Given the description of an element on the screen output the (x, y) to click on. 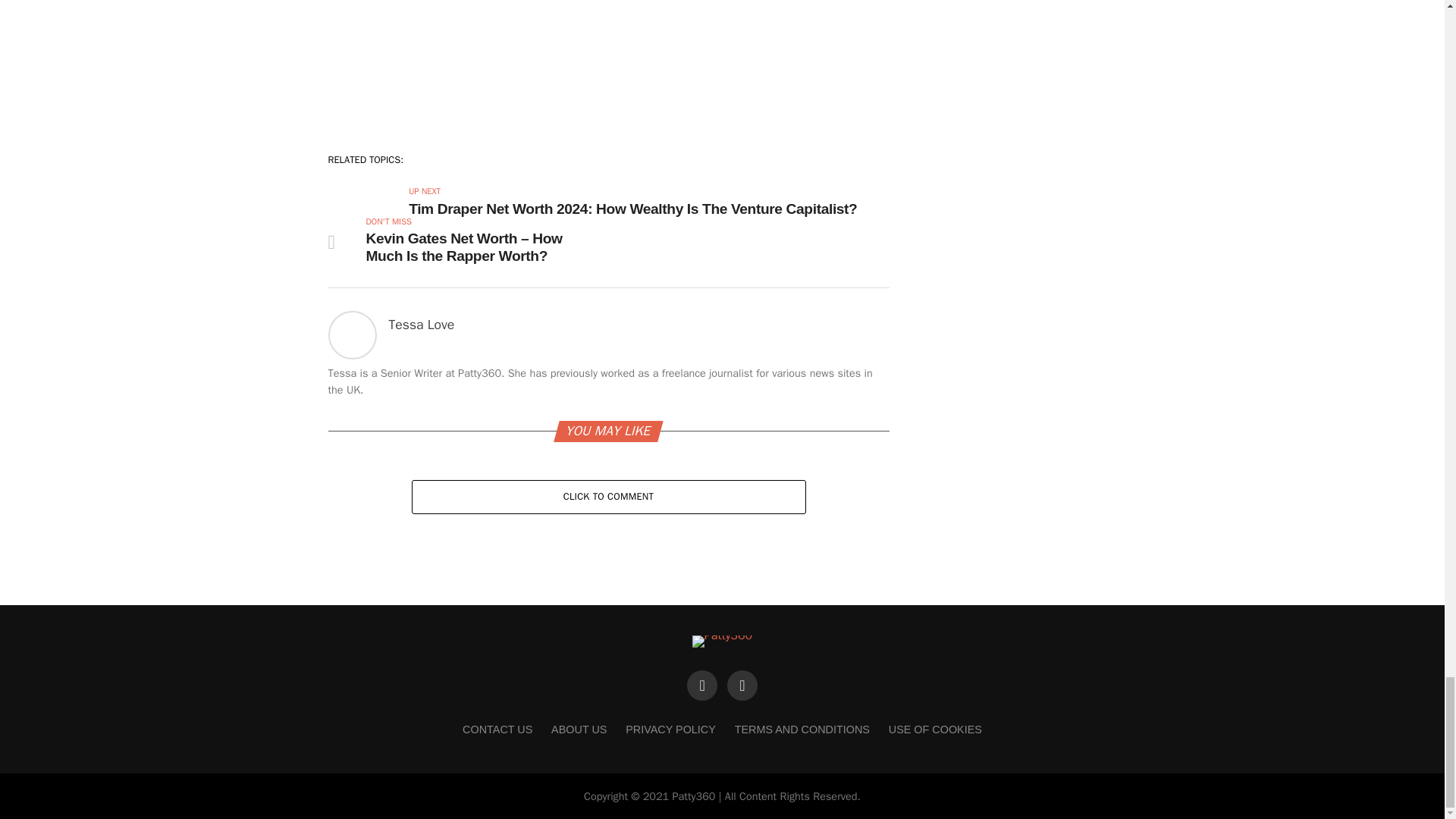
CONTACT US (497, 729)
Tessa Love (421, 324)
PRIVACY POLICY (671, 729)
TERMS AND CONDITIONS (802, 729)
Posts by Tessa Love (421, 324)
USE OF COOKIES (934, 729)
ABOUT US (579, 729)
